Given the description of an element on the screen output the (x, y) to click on. 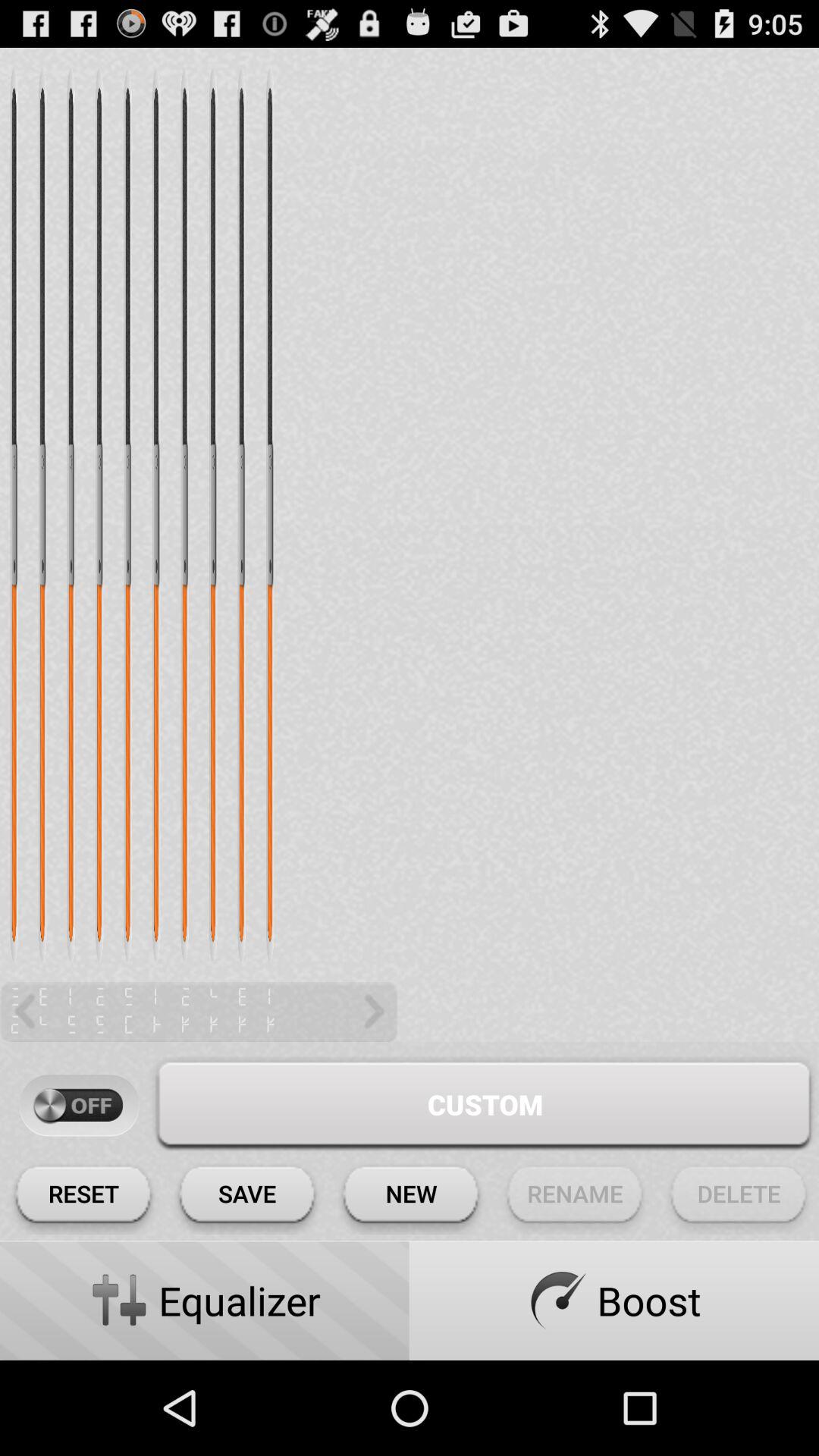
turn off button (79, 1105)
